Given the description of an element on the screen output the (x, y) to click on. 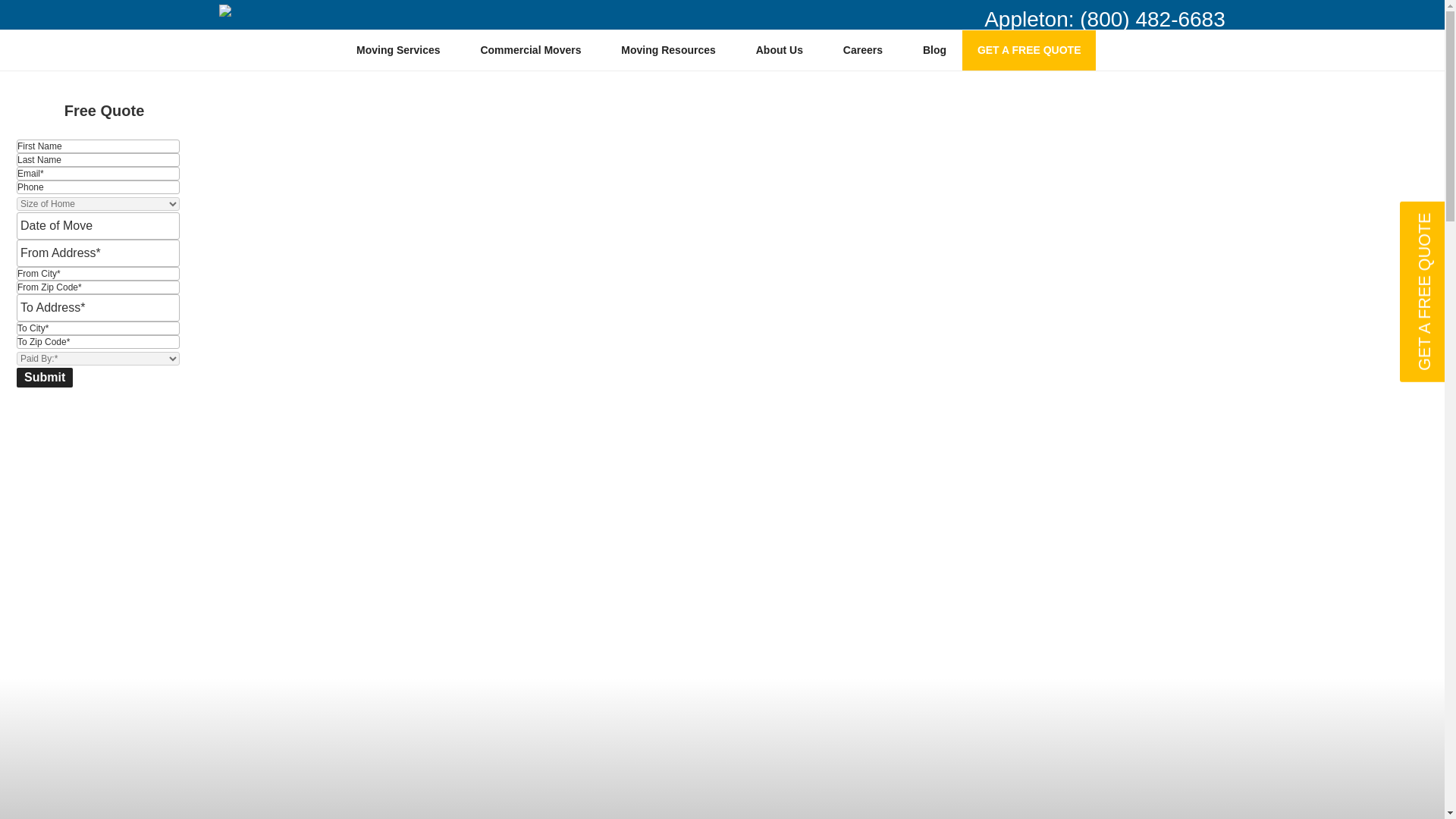
Commercial Movers (536, 49)
About Us (784, 49)
Moving Services (403, 49)
Moving Resources (673, 49)
Submit (44, 377)
